Given the description of an element on the screen output the (x, y) to click on. 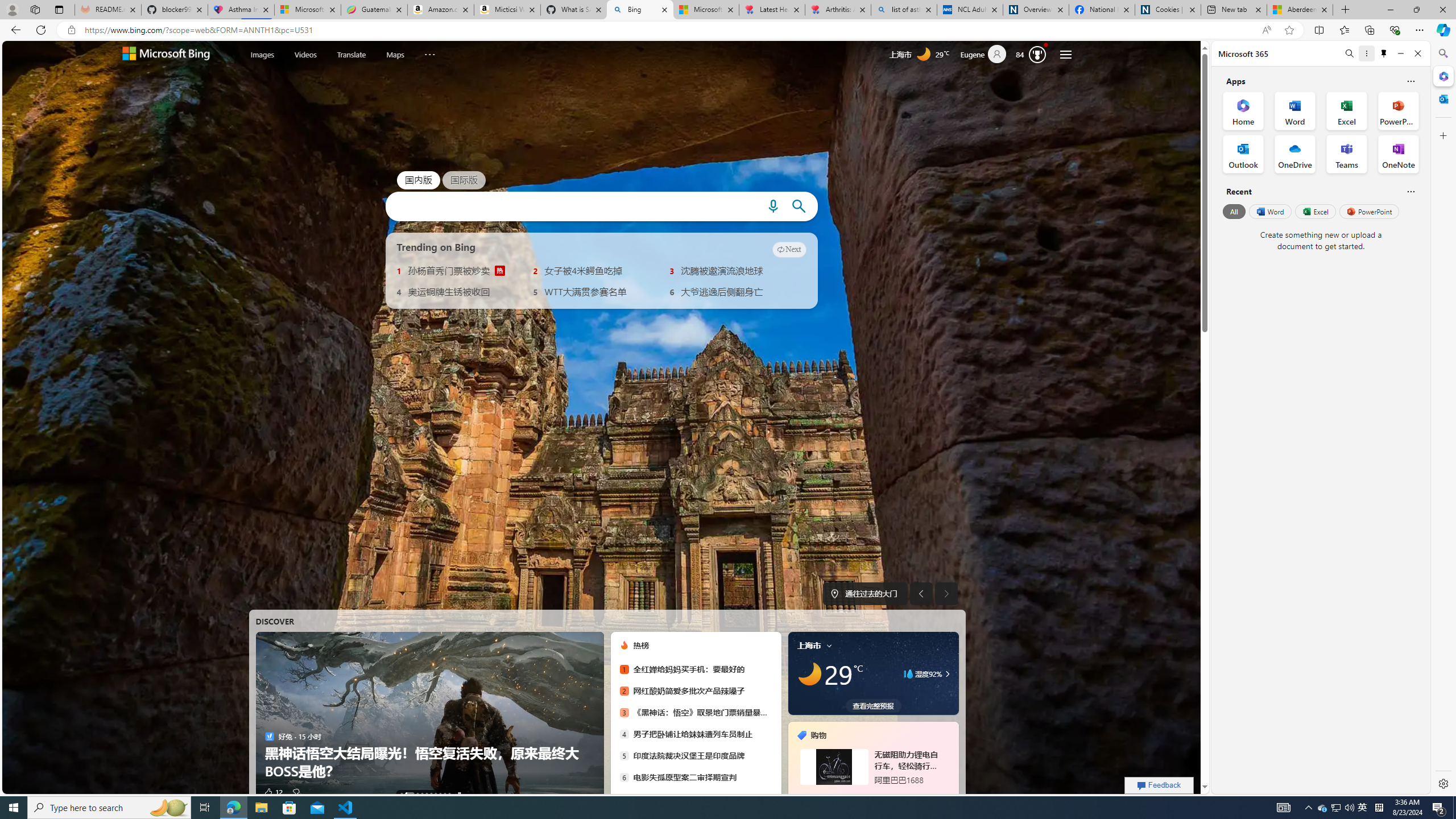
Images (261, 53)
Translate (351, 54)
tab-1 (866, 795)
AutomationID: tab-1 (408, 793)
